Given the description of an element on the screen output the (x, y) to click on. 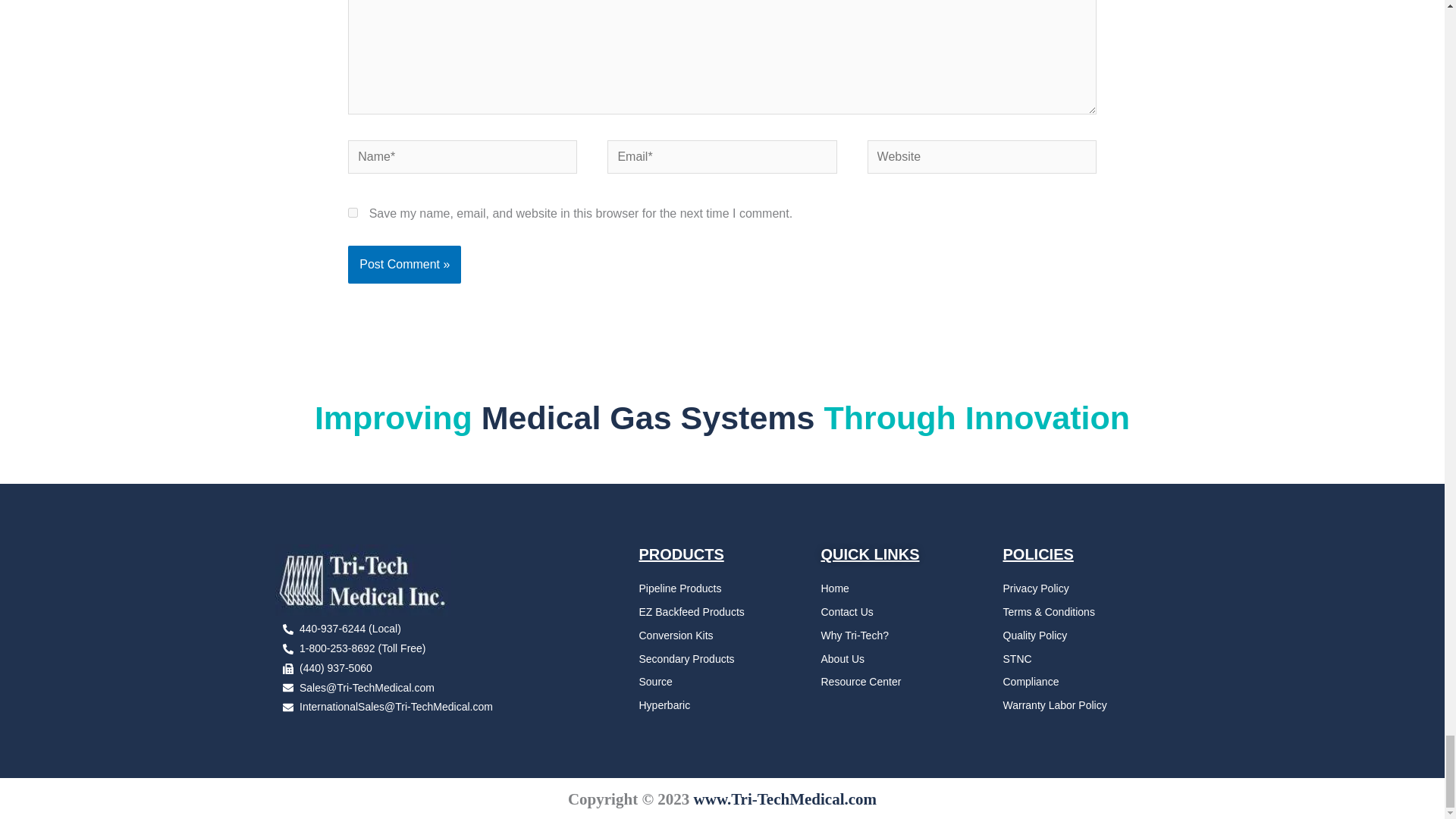
yes (352, 212)
